Given the description of an element on the screen output the (x, y) to click on. 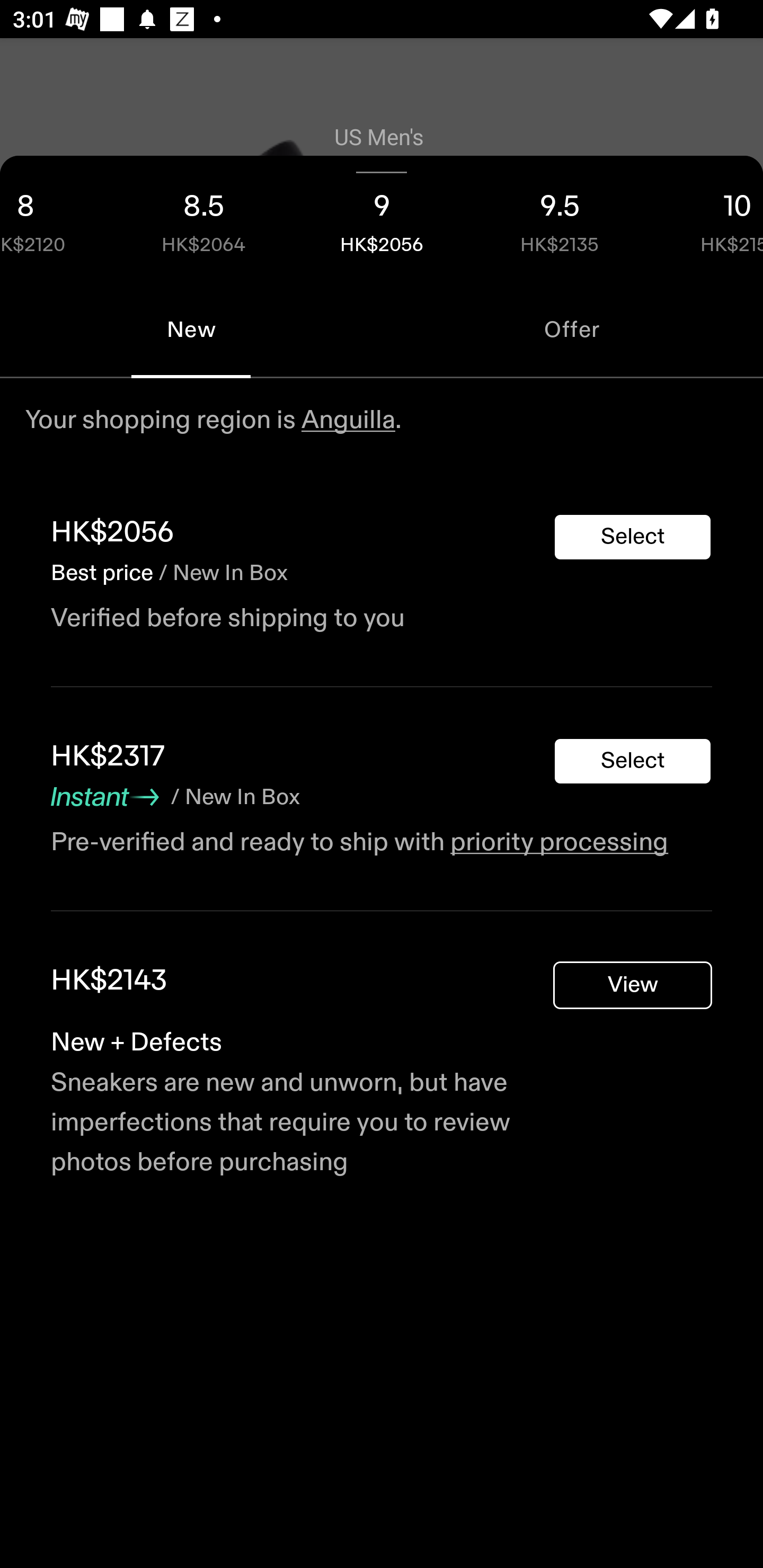
8 HK$2120 (57, 218)
8.5 HK$2064 (203, 218)
9 HK$2056 (381, 218)
9.5 HK$2135 (559, 218)
10 HK$2151 (705, 218)
Offer (572, 329)
Select (632, 536)
HK$2317 (107, 756)
Select (632, 760)
View (632, 985)
